Given the description of an element on the screen output the (x, y) to click on. 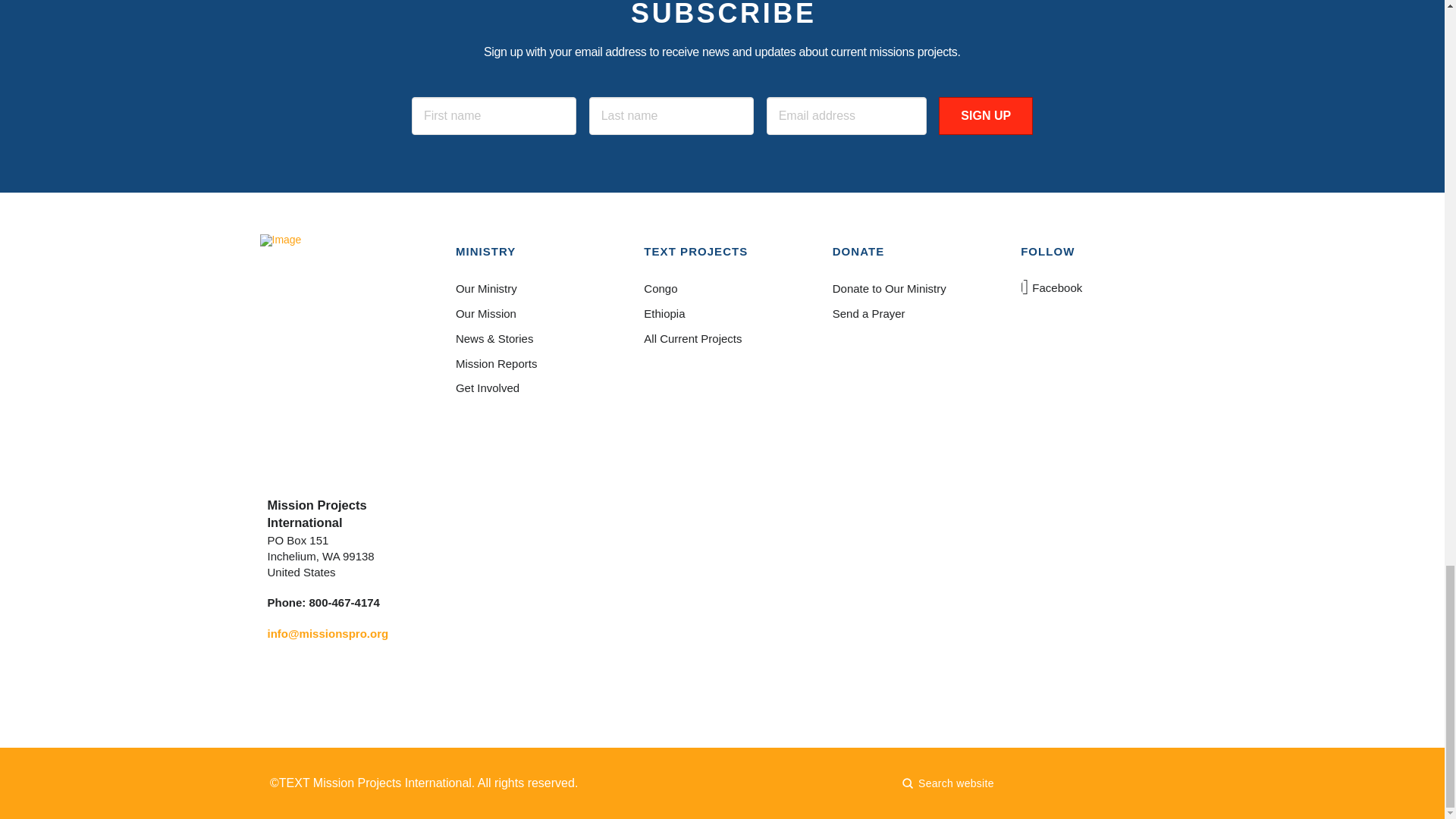
All Current Projects (721, 339)
Send Us an Email (327, 633)
Facebook (1053, 287)
Submit (907, 783)
Our Ministry (533, 289)
Sign Up (985, 116)
Phone: 800-467-4174 (322, 602)
Sign Up (985, 116)
Donate to Our Ministry (910, 289)
Ethiopia (721, 314)
